Given the description of an element on the screen output the (x, y) to click on. 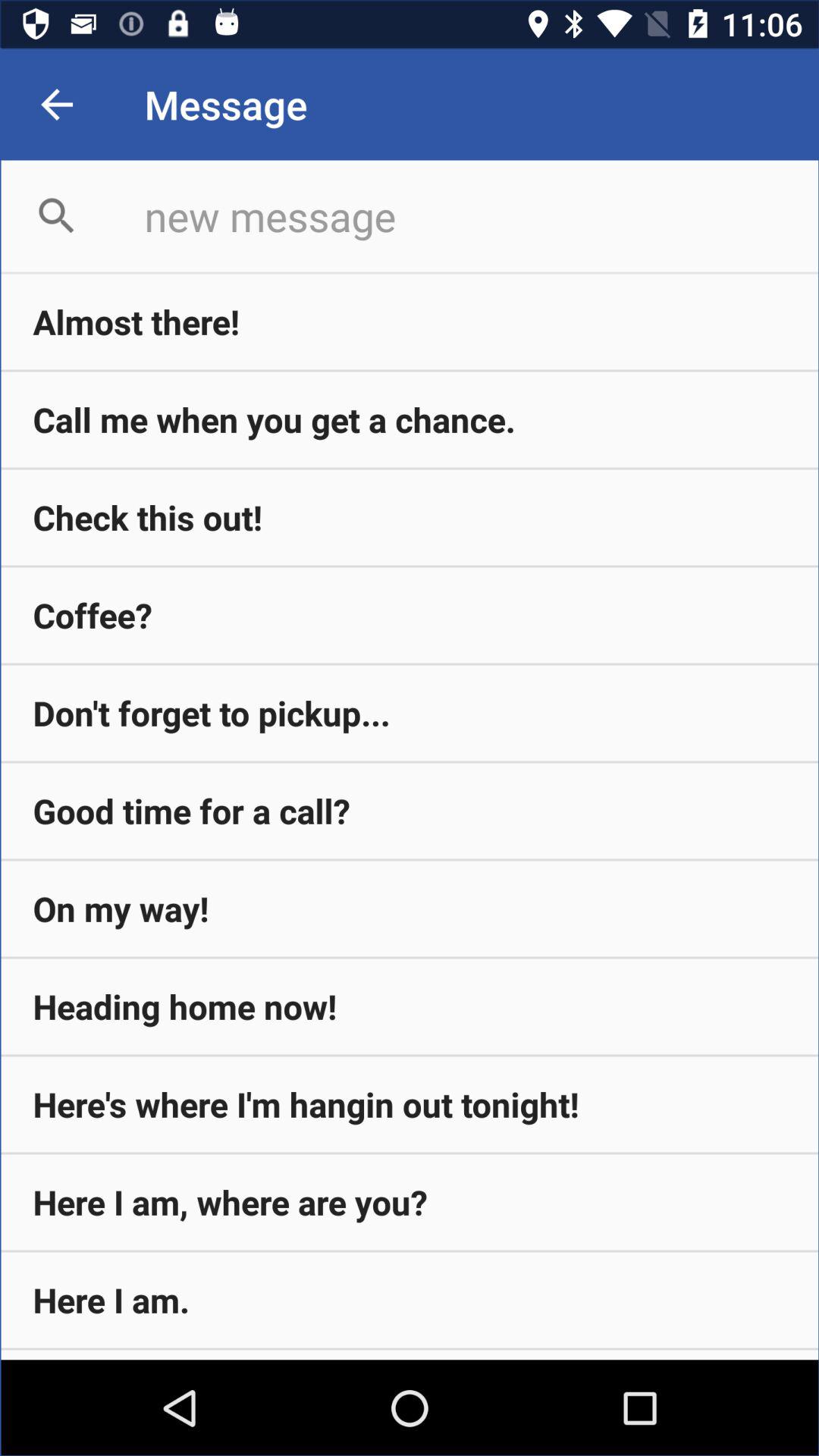
turn off the item below almost there! icon (409, 419)
